Given the description of an element on the screen output the (x, y) to click on. 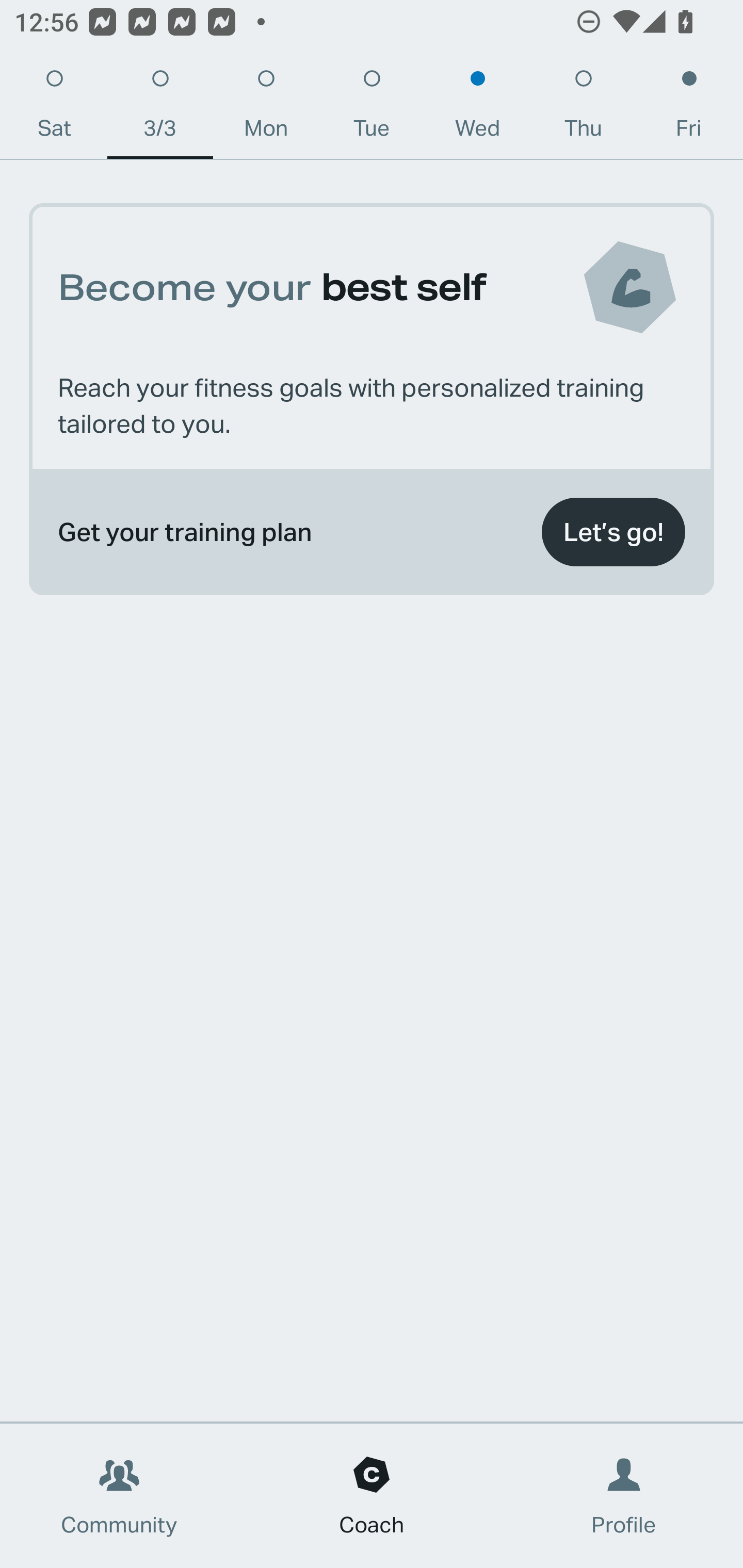
Sat (53, 108)
3/3 (159, 108)
Mon (265, 108)
Tue (371, 108)
Wed (477, 108)
Thu (583, 108)
Fri (689, 108)
Let’s go! (613, 532)
Community (119, 1495)
Profile (624, 1495)
